Given the description of an element on the screen output the (x, y) to click on. 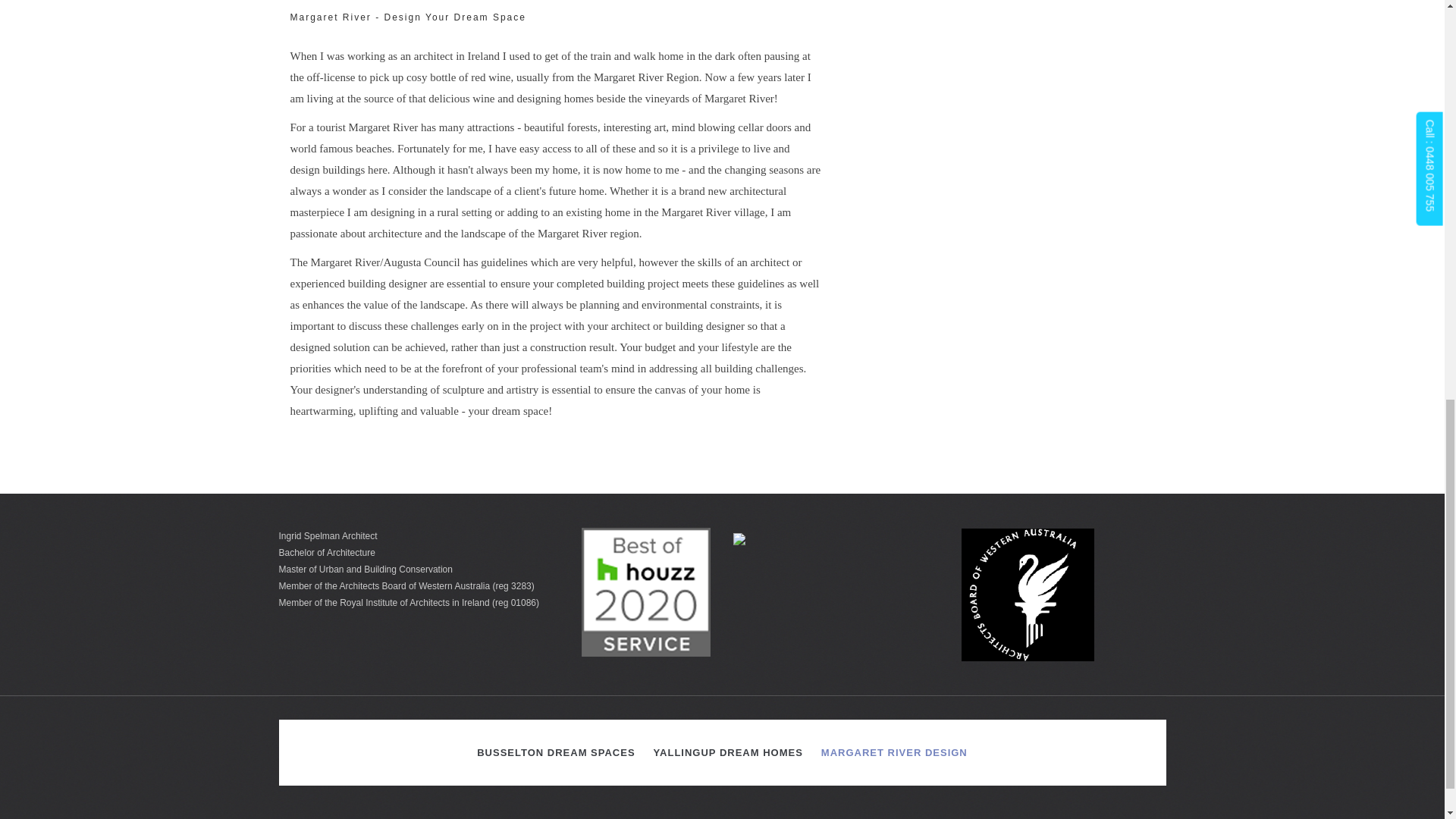
Architectual work in Yallingup (728, 752)
Find me on South West Business Women Connect (739, 538)
MARGARET RIVER DESIGN (894, 752)
Design work in Busselton (555, 752)
Your dream space in Margaret River (894, 752)
BUSSELTON DREAM SPACES (555, 752)
YALLINGUP DREAM HOMES (728, 752)
